Given the description of an element on the screen output the (x, y) to click on. 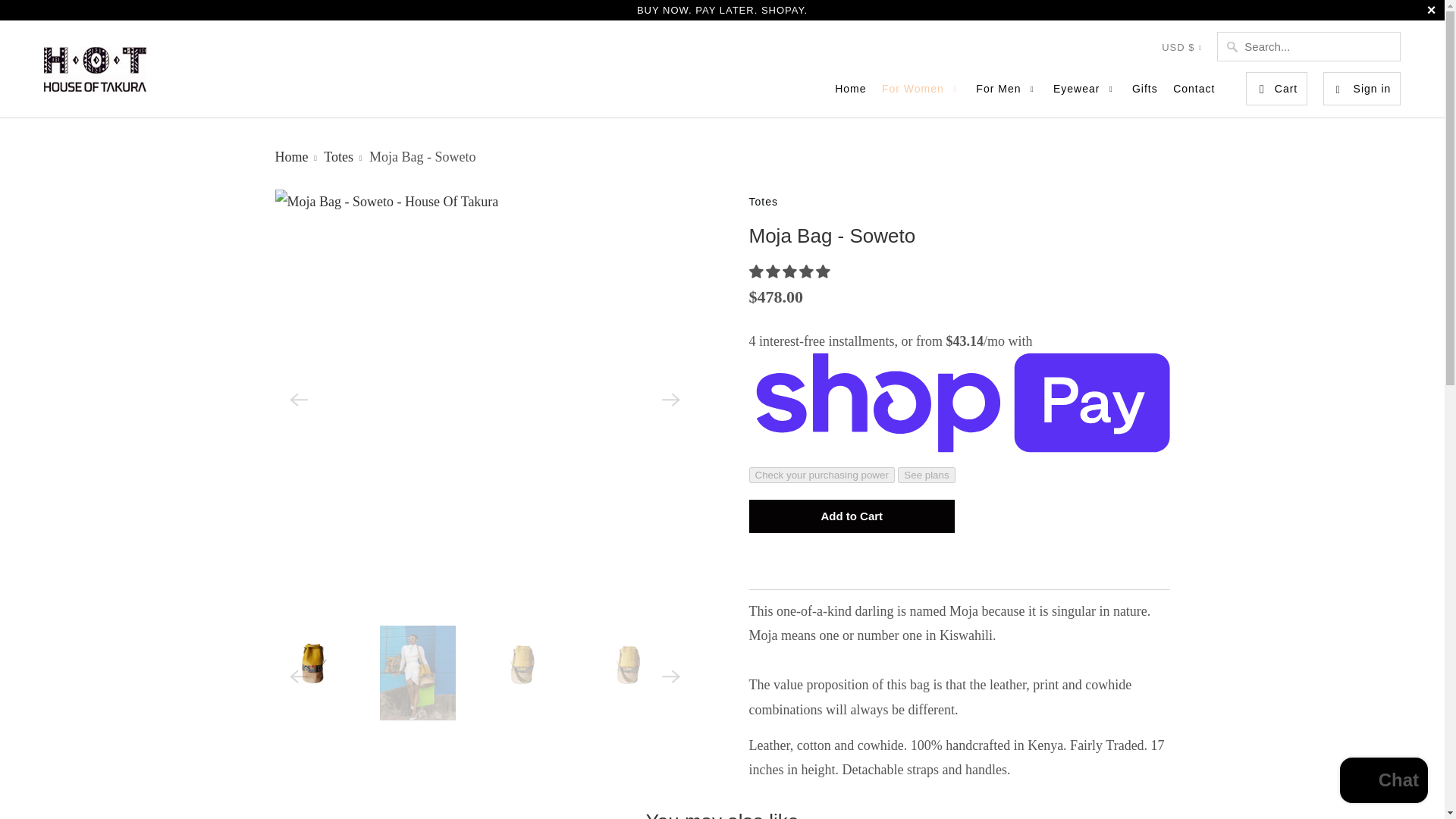
BAM (1199, 326)
AED (1199, 82)
ANG (1199, 186)
BOB (1199, 501)
BGN (1199, 431)
CHF (1199, 675)
House Of Takura (293, 156)
CZK (1199, 808)
House Of Takura (95, 68)
